Given the description of an element on the screen output the (x, y) to click on. 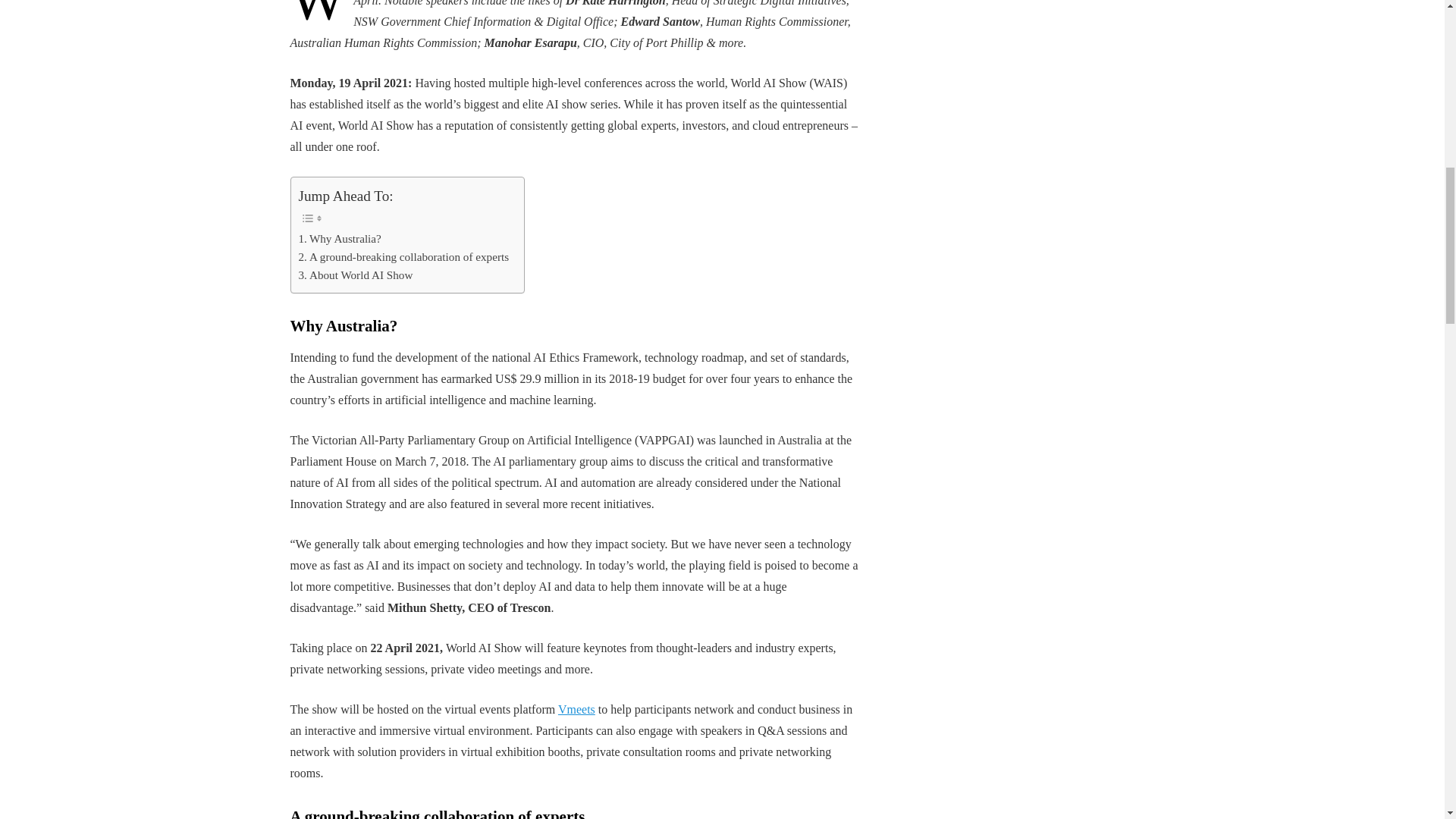
About World AI Show (355, 275)
A ground-breaking collaboration of experts (403, 257)
Why Australia? (339, 239)
About World AI Show (355, 275)
Why Australia? (339, 239)
A ground-breaking collaboration of experts (403, 257)
Vmeets (576, 708)
